Given the description of an element on the screen output the (x, y) to click on. 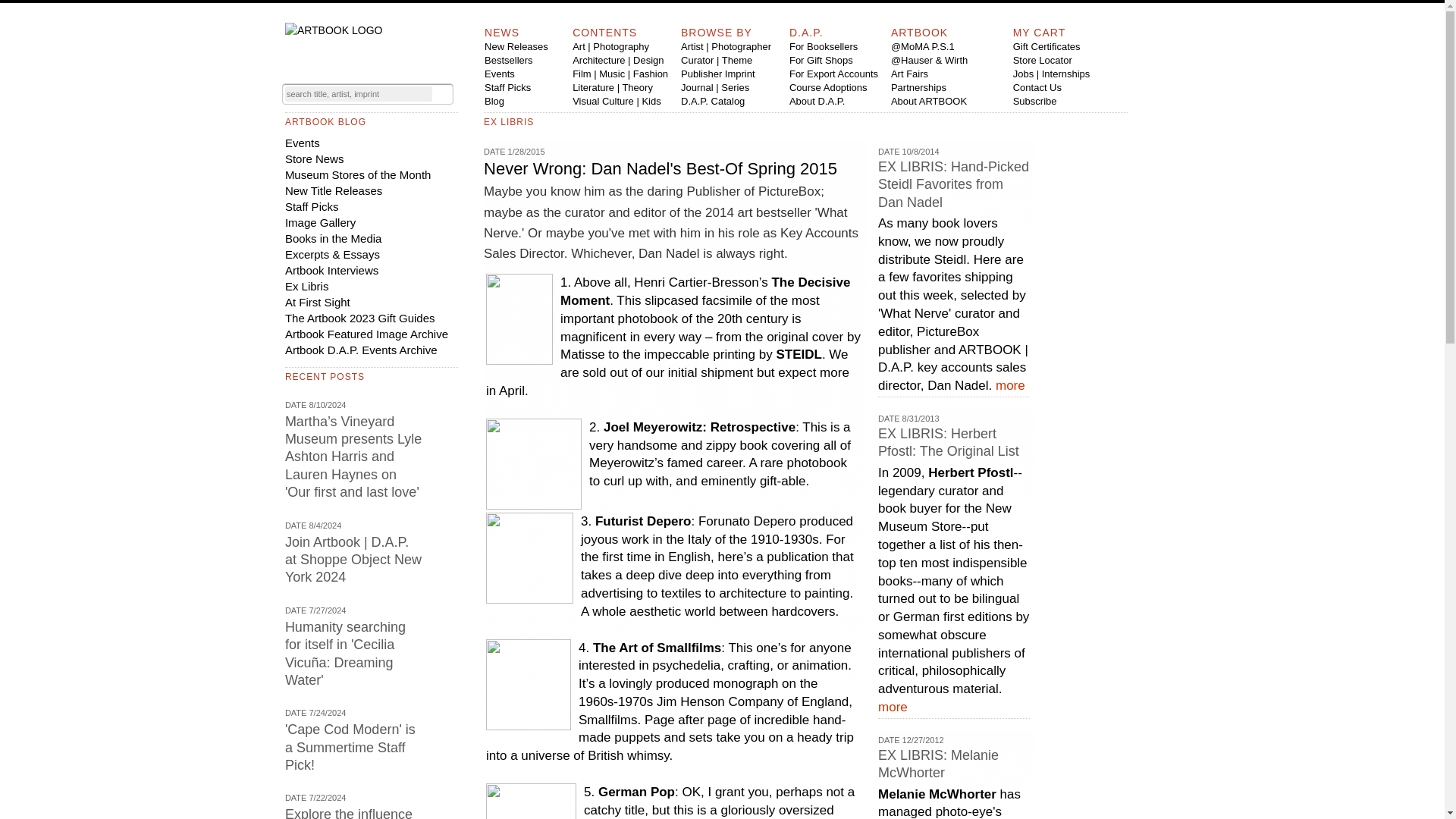
Events (499, 73)
Art Fairs (909, 73)
Art (578, 46)
ARTBOOK (919, 32)
Course Adoptions (828, 87)
Design (648, 60)
Photography (620, 46)
Kids (651, 101)
For Export Accounts (833, 73)
Literature (593, 87)
Publisher Imprint (718, 73)
New Releases (516, 46)
Journal (697, 87)
Artist (692, 46)
Staff Picks (507, 87)
